Given the description of an element on the screen output the (x, y) to click on. 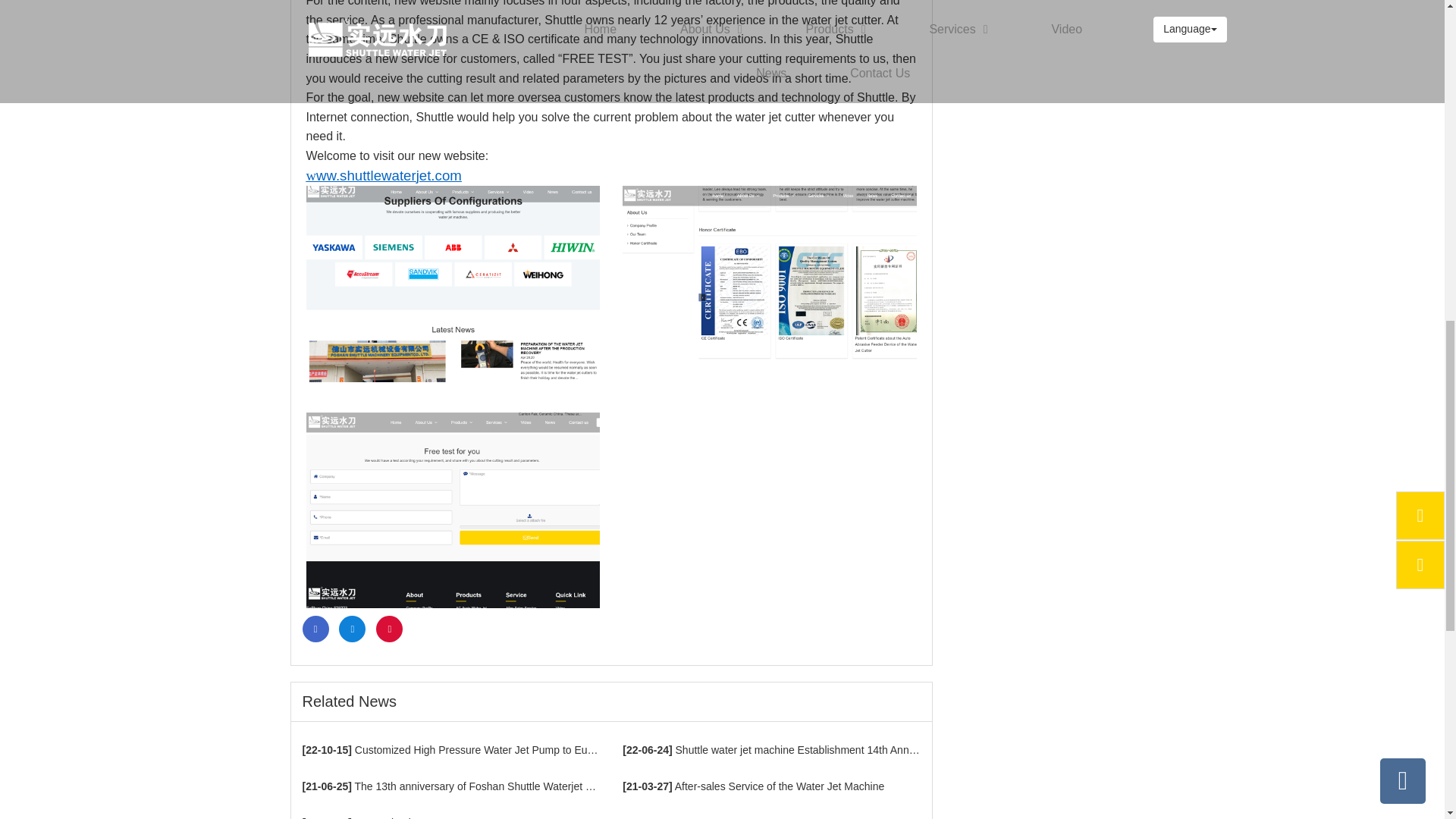
Customized Water Jet (450, 814)
After-sales Service of the Water Jet Machine (771, 786)
Shuttle water jet machine Establishment 14th Anniversary (771, 750)
Customized High Pressure Water Jet Pump to Europe (450, 750)
